Given the description of an element on the screen output the (x, y) to click on. 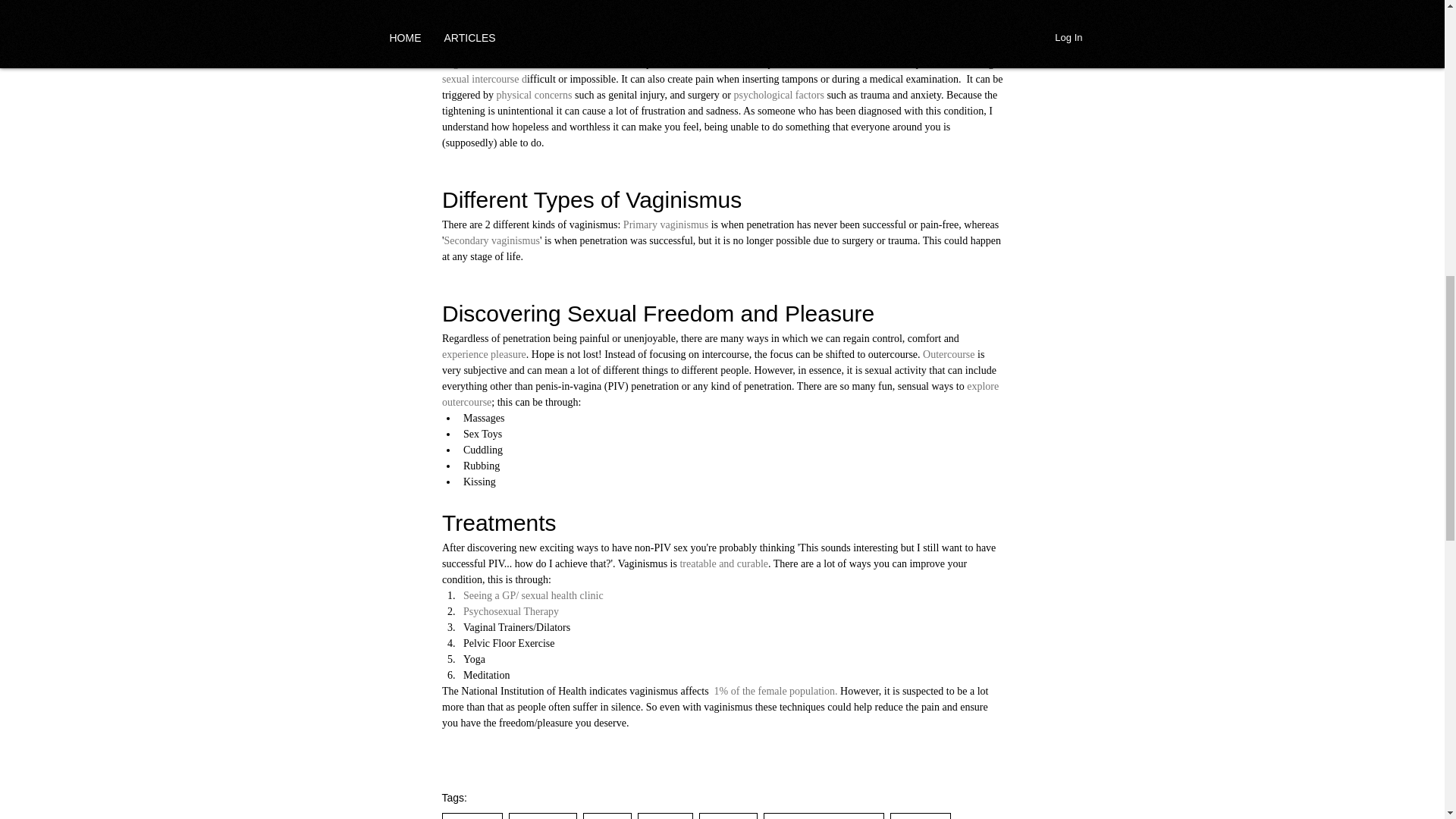
Primary vaginismus (665, 224)
happiness (542, 816)
sexual empowerment (822, 816)
experience pleasure (483, 354)
sexual liberation (794, 1)
aginismus (470, 62)
pleasure (919, 816)
treatable and curable (723, 563)
Secondary vaginismus (491, 240)
sexuality (471, 816)
psychological factors (778, 94)
physical concerns (534, 94)
xplore outercourse (721, 393)
sexual intercourse d (483, 79)
Outercourse  (949, 354)
